Given the description of an element on the screen output the (x, y) to click on. 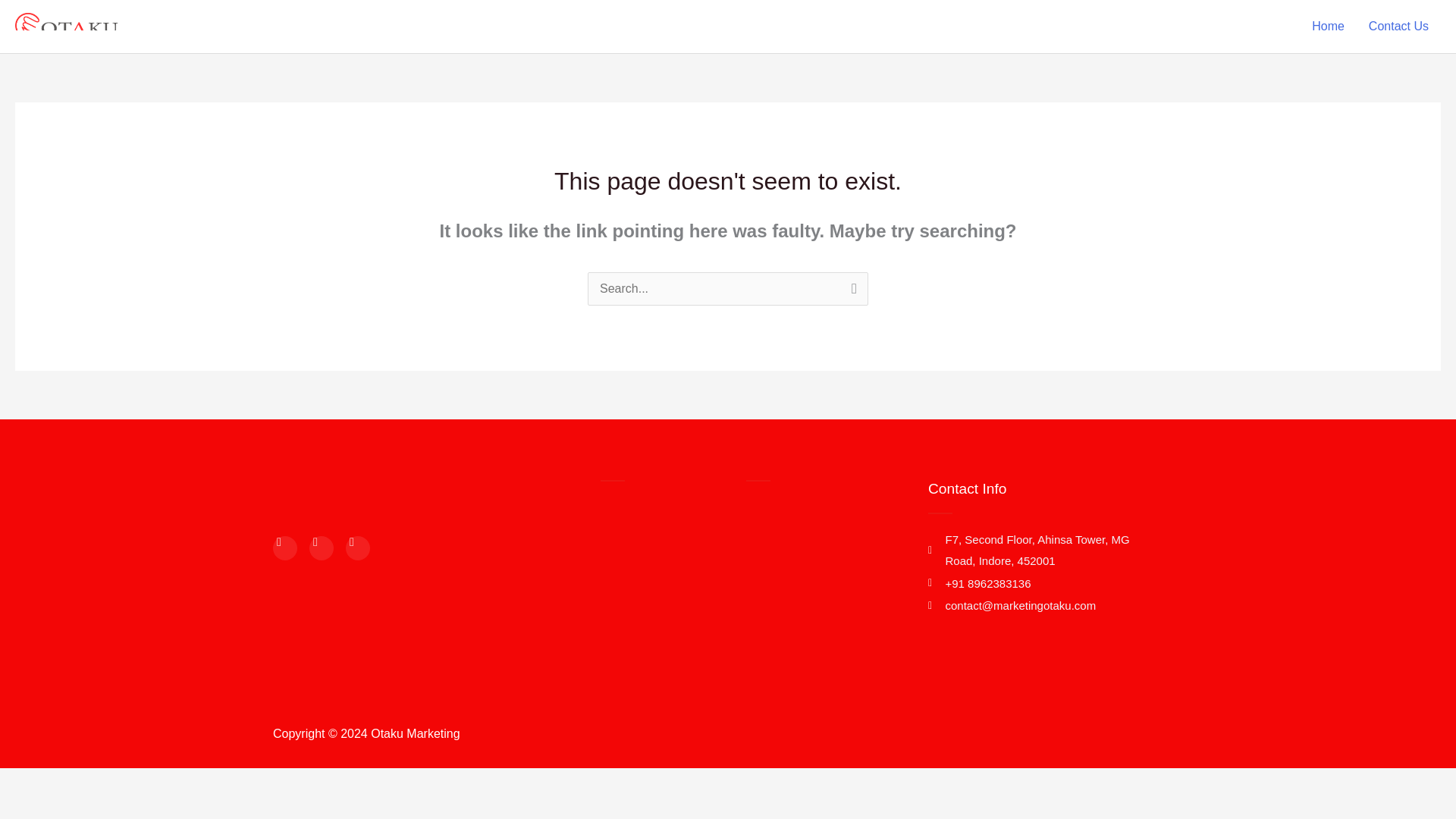
Facebook (285, 548)
Contact Us (1398, 26)
Linkedin (357, 548)
Instagram (320, 548)
Home (1328, 26)
